Given the description of an element on the screen output the (x, y) to click on. 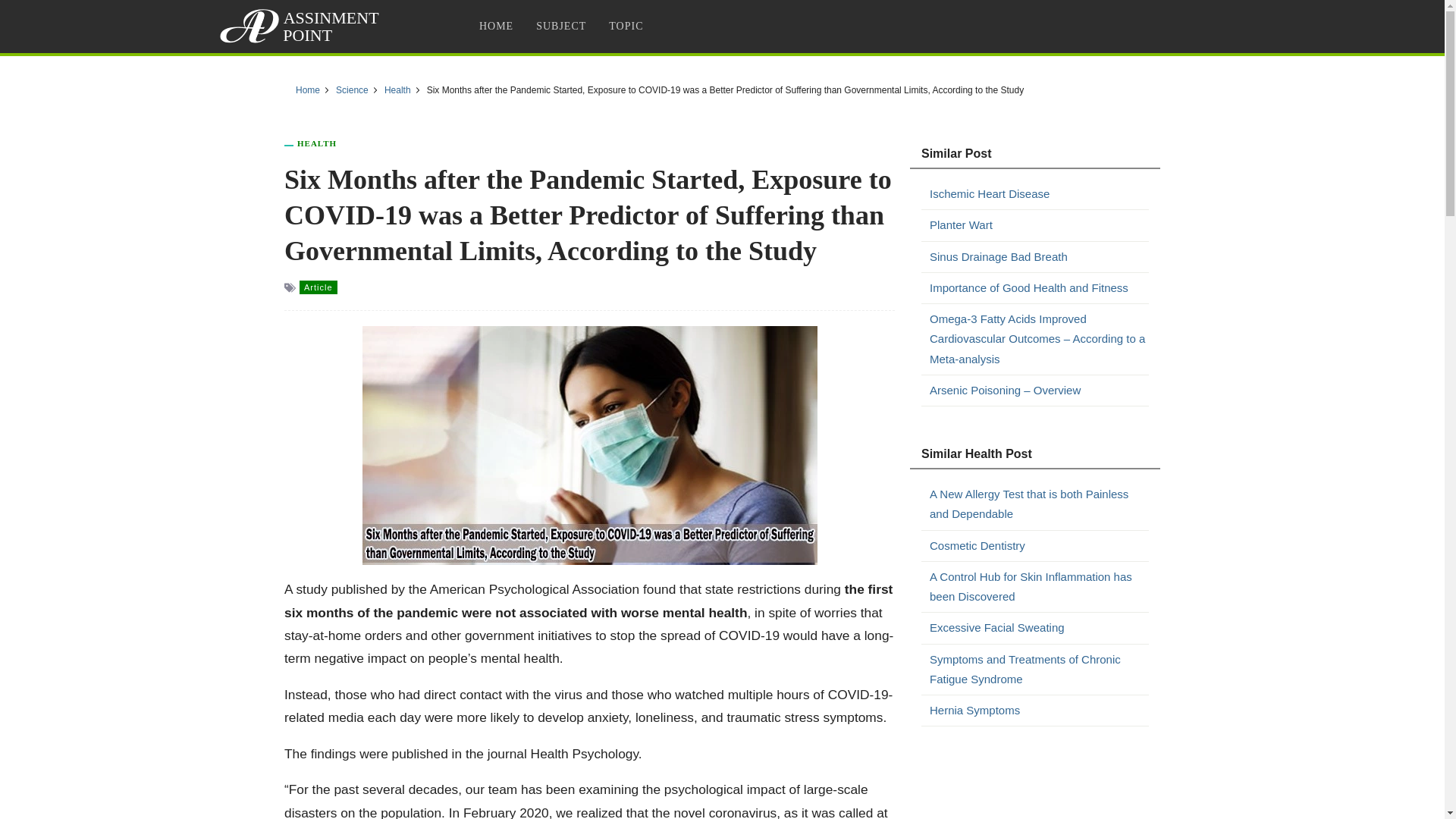
Planter Wart (1039, 225)
Importance of Good Health and Fitness (1039, 288)
Health (316, 143)
Cosmetic Dentistry (1039, 545)
Ischemic Heart Disease (1039, 193)
Sinus Drainage Bad Breath (1039, 256)
Home (307, 90)
A Control Hub for Skin Inflammation has been Discovered (1039, 587)
Symptoms and Treatments of Chronic Fatigue Syndrome (1039, 669)
Article (318, 287)
